Given the description of an element on the screen output the (x, y) to click on. 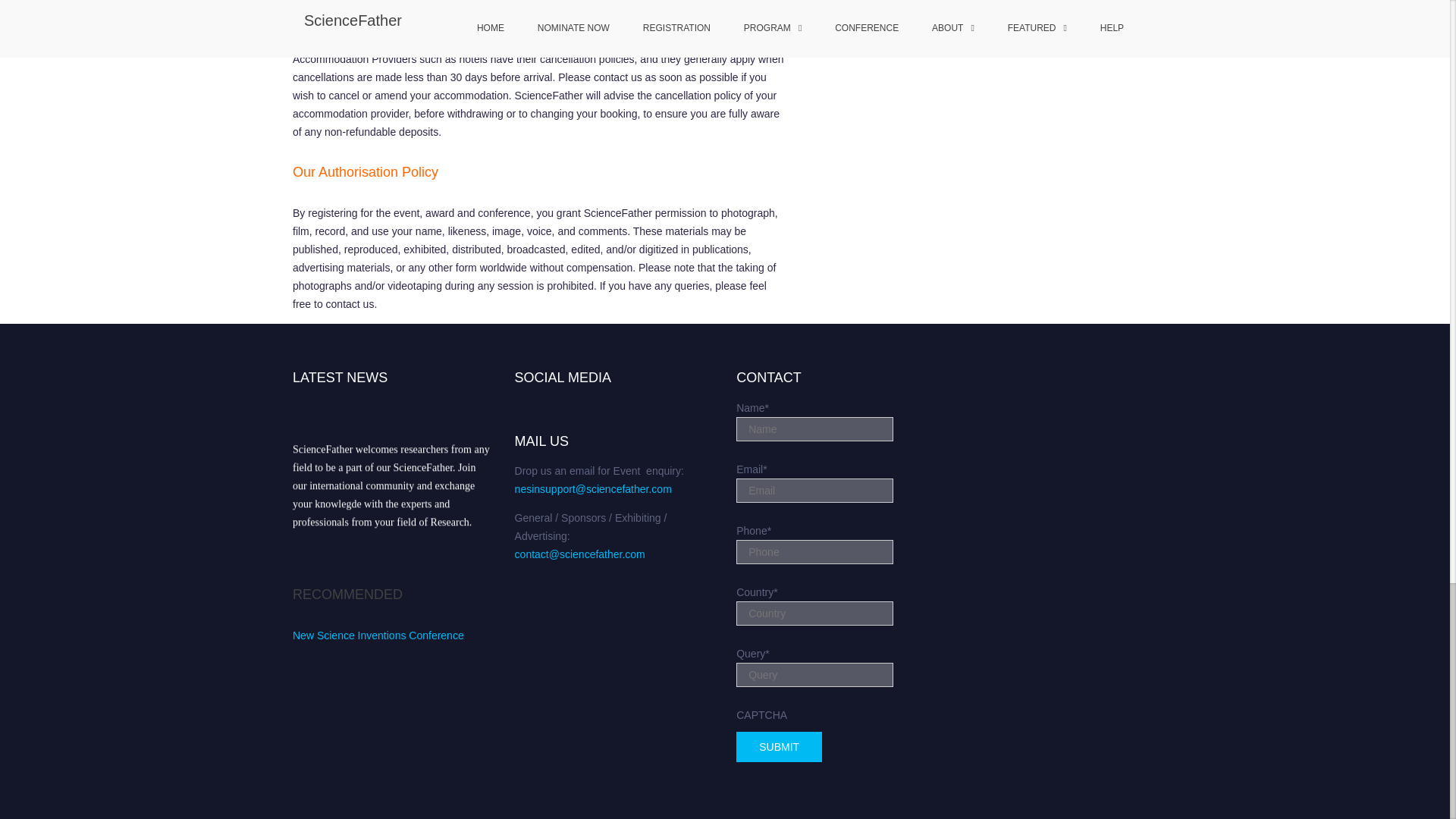
Submit (779, 747)
New Science Inventions Conference (378, 635)
